Given the description of an element on the screen output the (x, y) to click on. 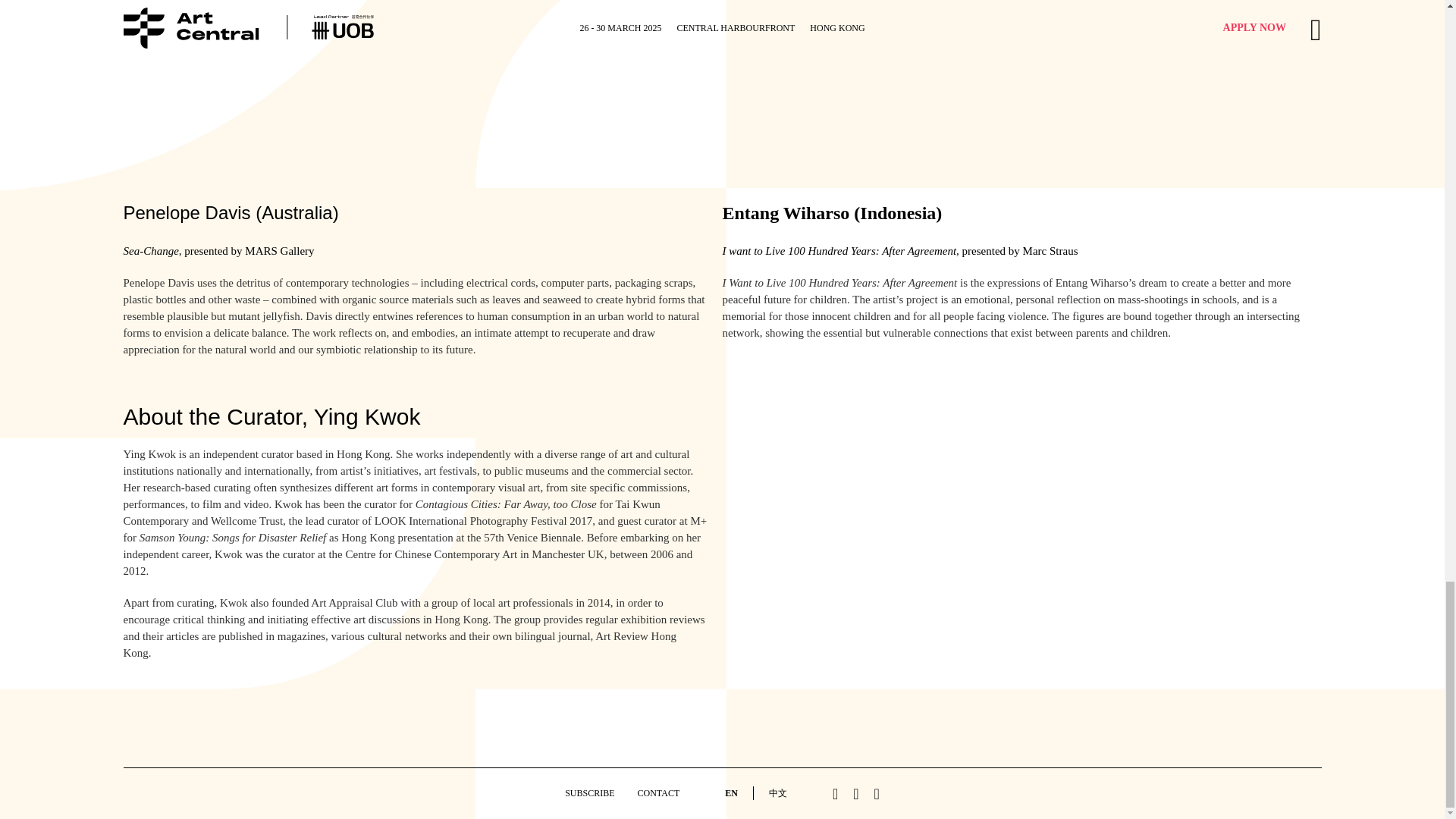
SUBSCRIBE (589, 793)
CONTACT (658, 793)
EN (731, 793)
